Given the description of an element on the screen output the (x, y) to click on. 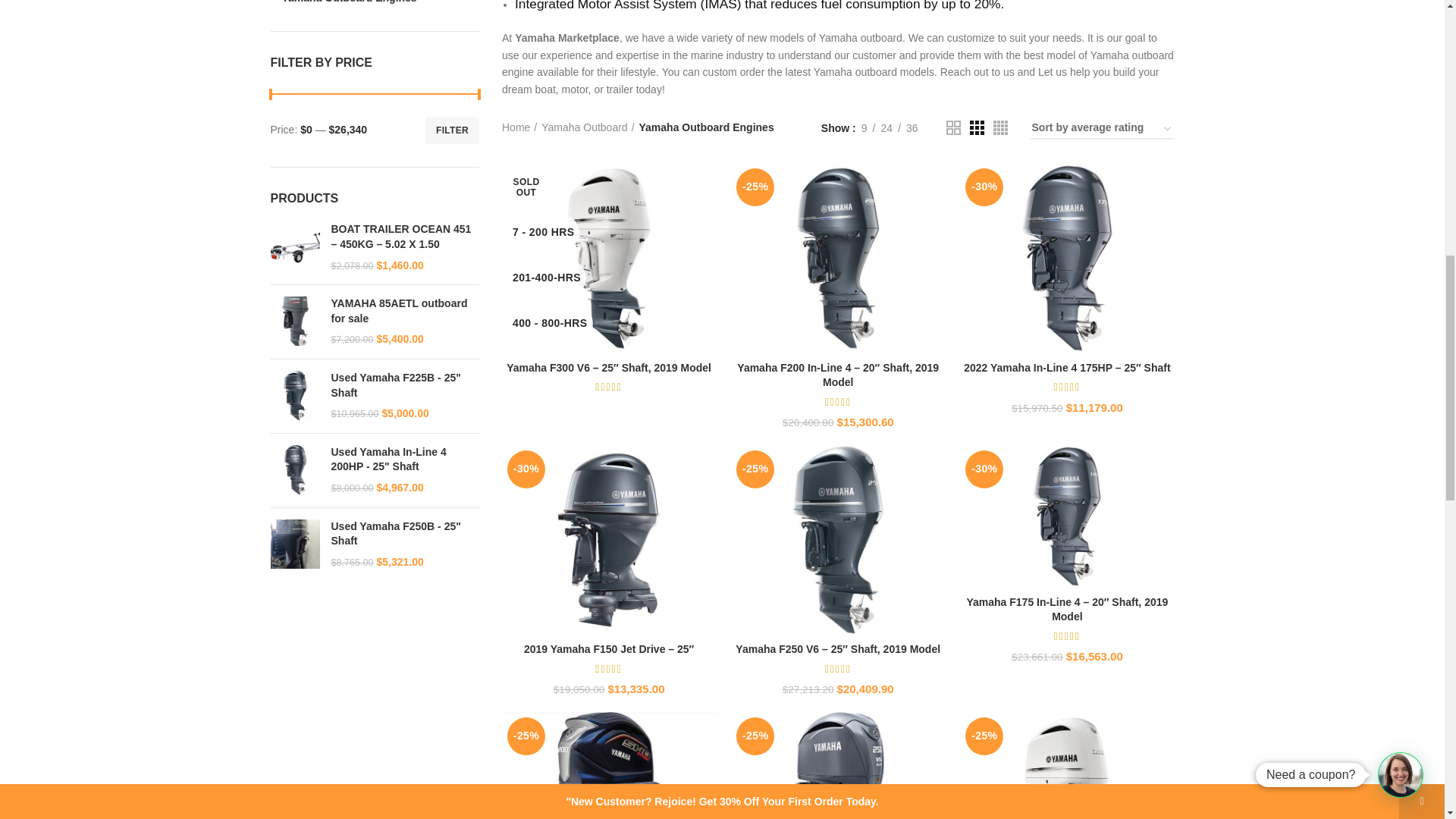
Used Yamaha F225B - 25"  Shaft (404, 385)
YAMAHA 85AETL outboard for sale (404, 310)
Used Yamaha F225B - 25"  Shaft (293, 396)
Used Yamaha In-Line 4 200HP - 25" Shaft (293, 470)
Used Yamaha In-Line 4 200HP - 25" Shaft (404, 460)
YAMAHA 85AETL outboard for sale (293, 321)
